Given the description of an element on the screen output the (x, y) to click on. 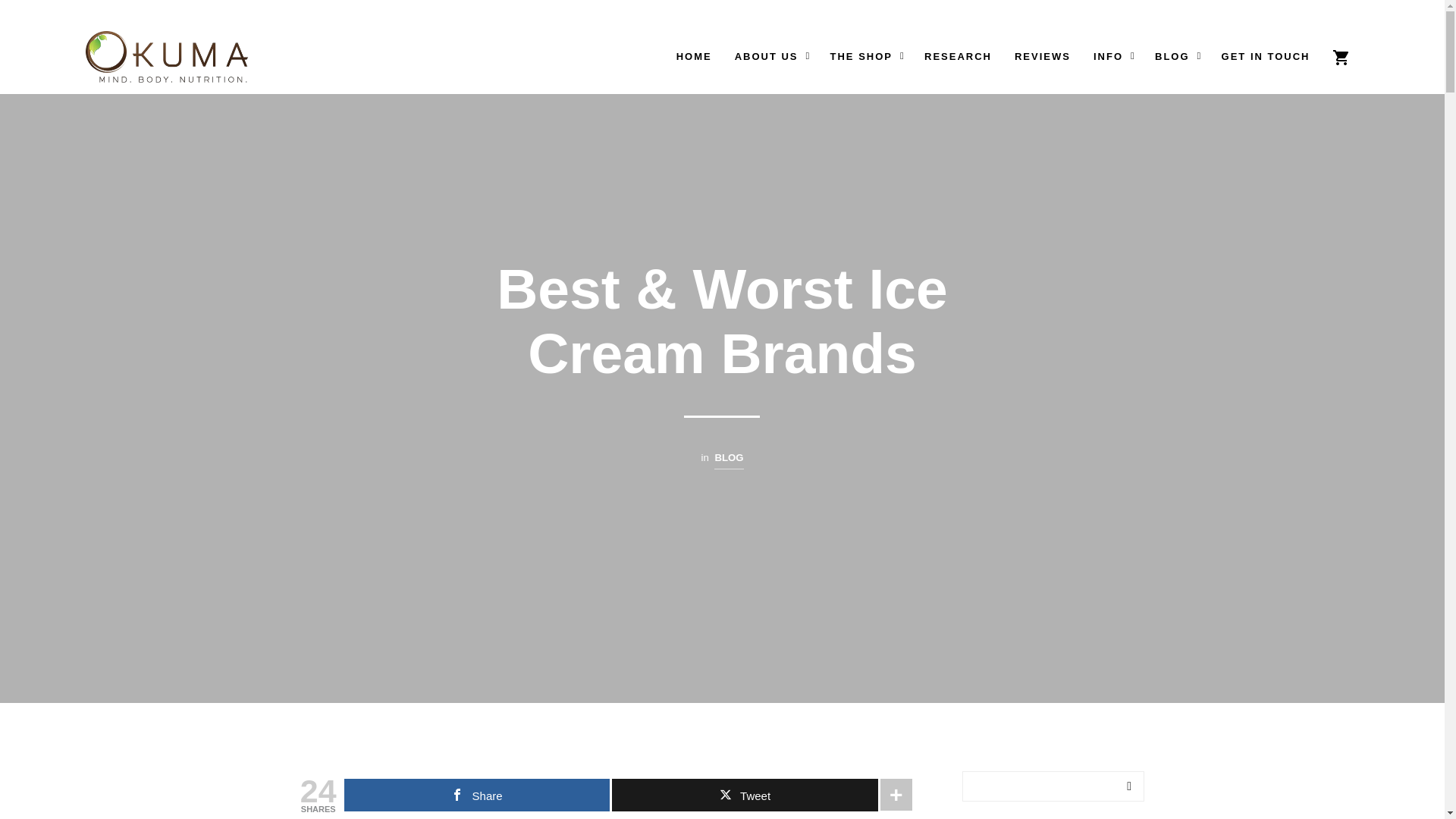
REVIEWS (1042, 56)
BLOG (728, 459)
Tweet (744, 794)
ABOUT US (766, 56)
Share (476, 794)
Search (1128, 786)
INFO (1107, 56)
HOME (694, 56)
Search (1308, 154)
GET IN TOUCH (1265, 56)
